Given the description of an element on the screen output the (x, y) to click on. 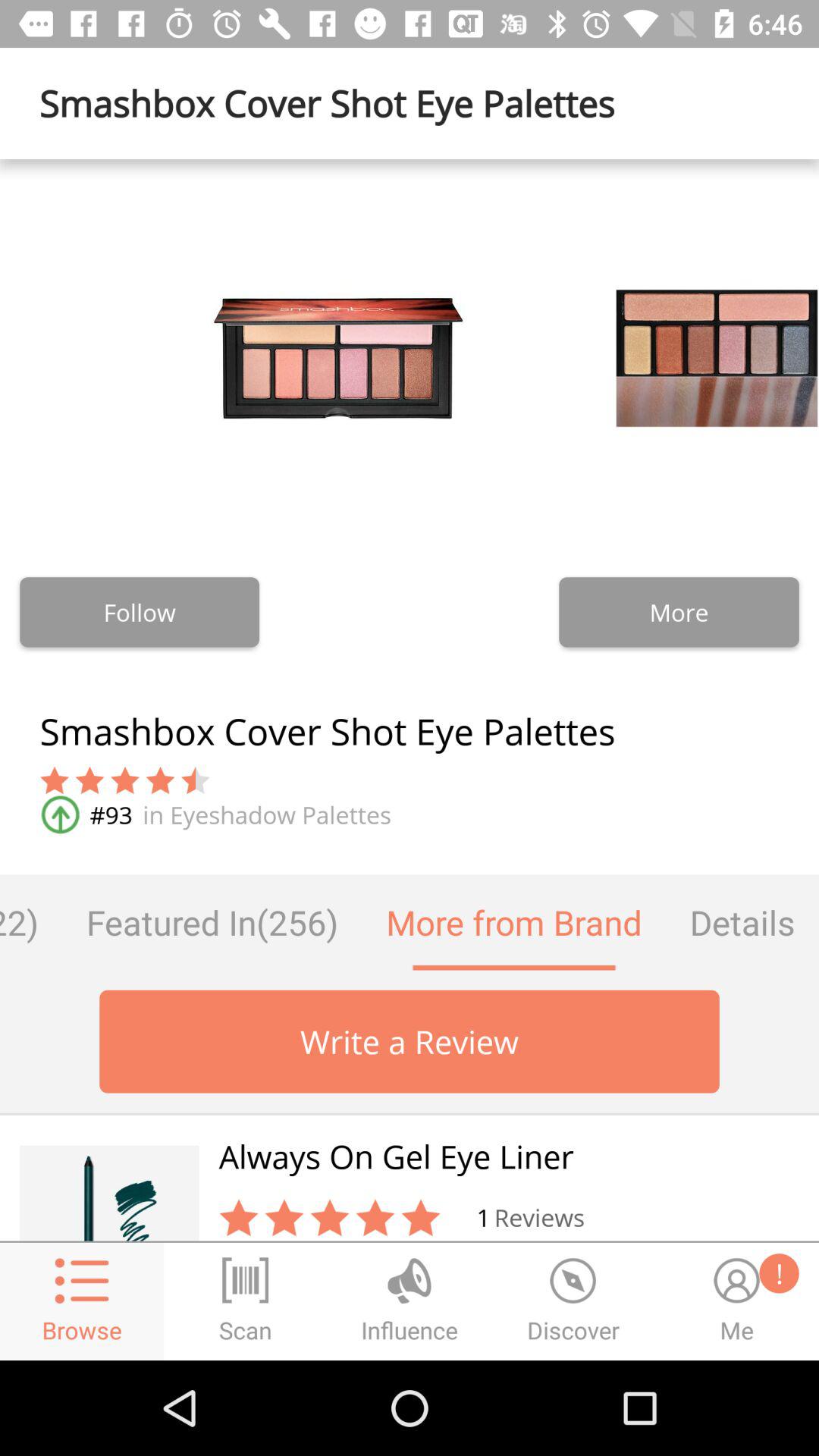
click on the button which is next to the follow button (678, 611)
click on the button which is left side to the more button (139, 611)
click on scan button at the bottom next to browse (245, 1301)
click on the follow button (139, 611)
select the second image above more (678, 358)
click on the first star above scan (238, 1217)
